Given the description of an element on the screen output the (x, y) to click on. 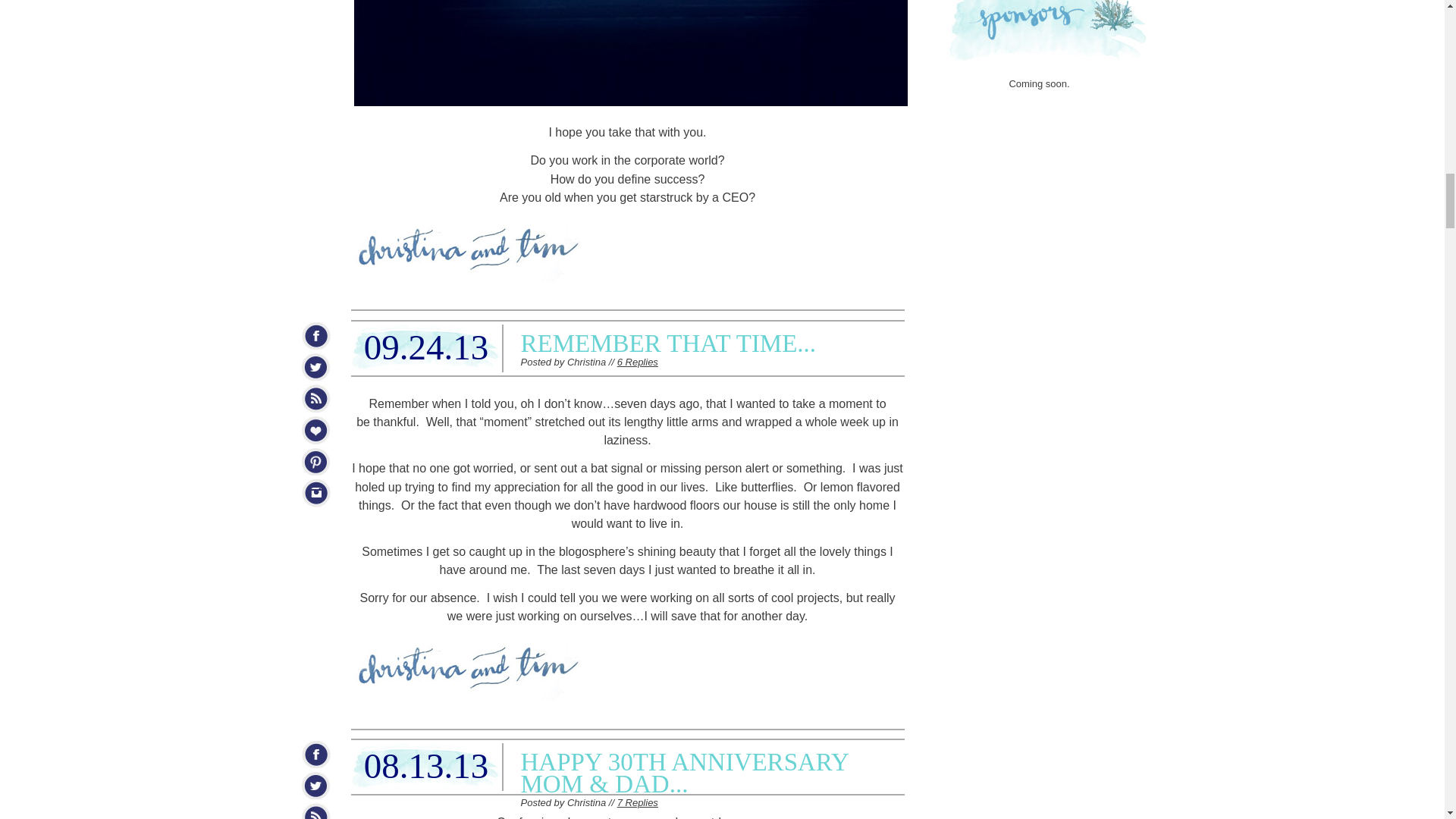
REMEMBER THAT TIME... (667, 343)
6 Replies (637, 361)
